Given the description of an element on the screen output the (x, y) to click on. 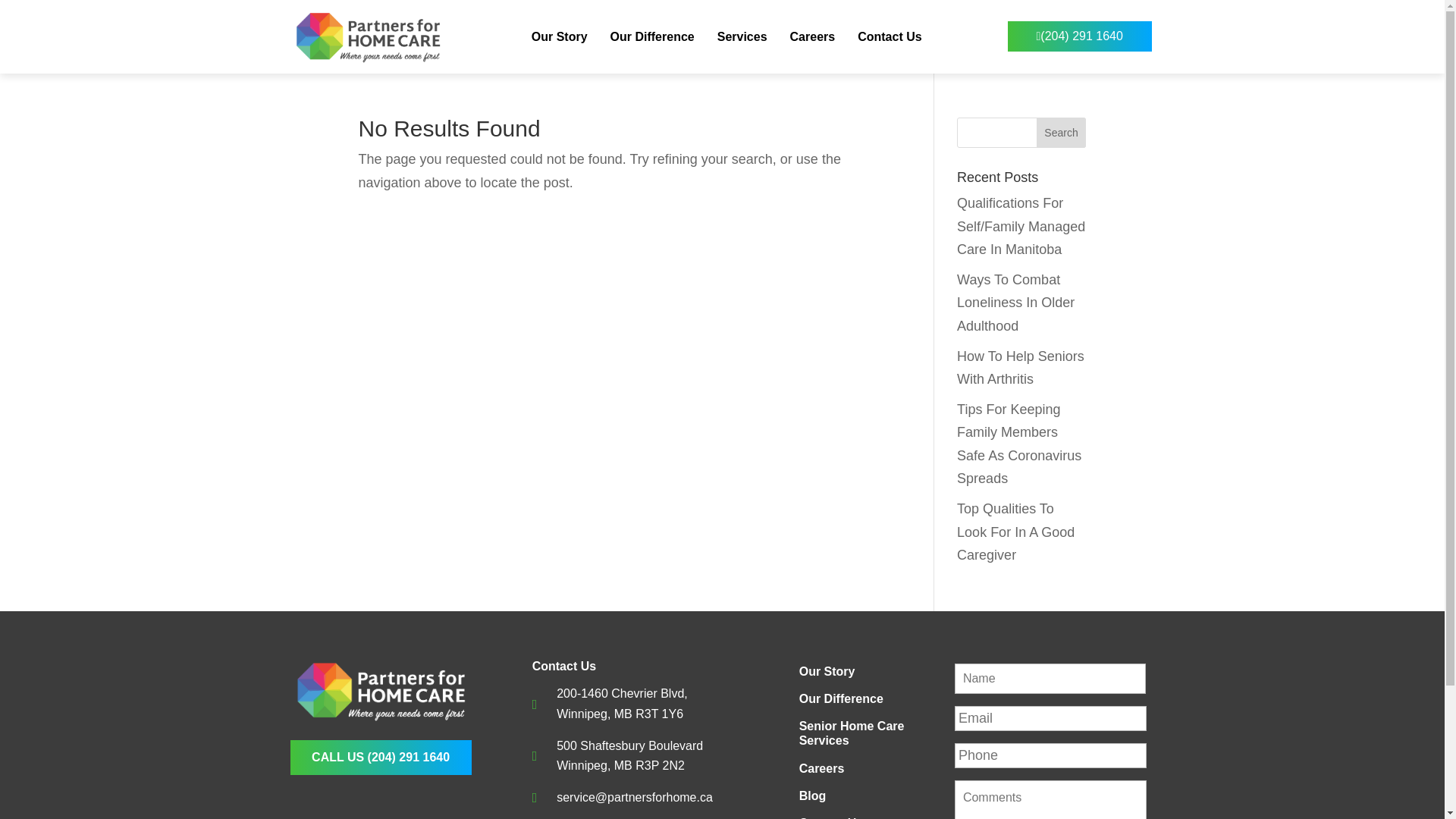
Our Difference (652, 36)
Careers (812, 36)
Ways To Combat Loneliness In Older Adulthood (1015, 302)
Top Qualities To Look For In A Good Caregiver (1015, 531)
Contact Us (869, 817)
Our Story (559, 36)
How To Help Seniors With Arthritis (1020, 367)
Senior Home Care Services (869, 733)
Tips For Keeping Family Members Safe As Coronavirus Spreads (1018, 444)
Our Difference (869, 698)
